Given the description of an element on the screen output the (x, y) to click on. 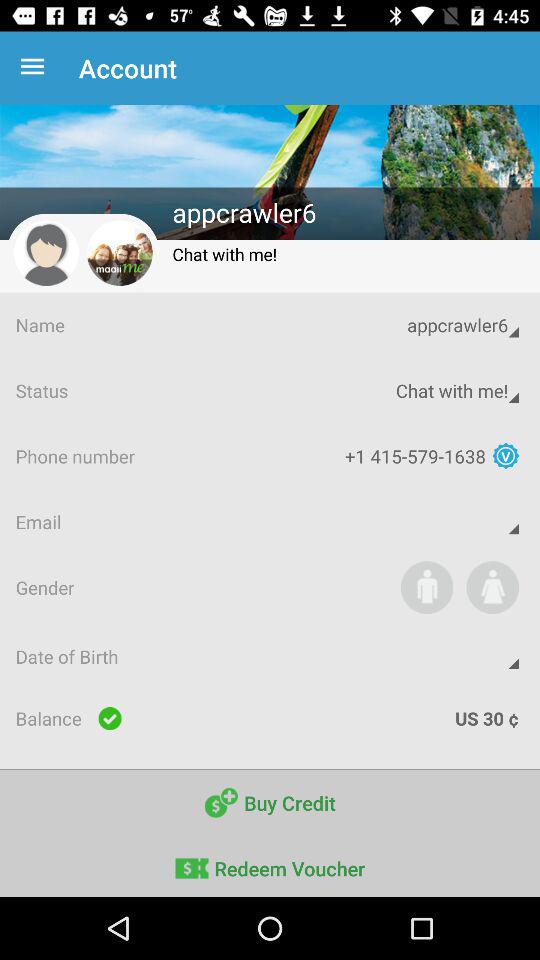
click male icon (426, 587)
